Given the description of an element on the screen output the (x, y) to click on. 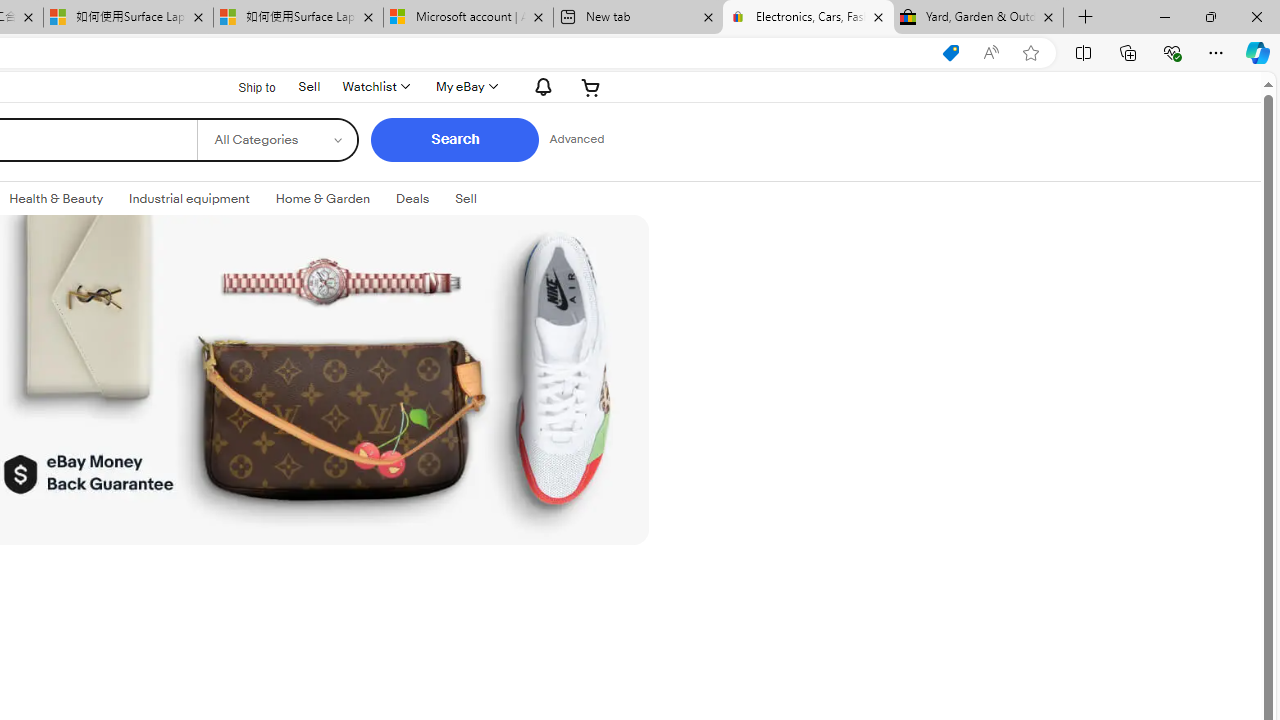
Deals (412, 199)
WatchlistExpand Watch List (374, 86)
Industrial equipment (189, 198)
Home & Garden (323, 198)
Shopping in Microsoft Edge (950, 53)
Home & GardenExpand: Home & Garden (323, 199)
Industrial equipmentExpand: Industrial equipment (189, 199)
Your shopping cart (591, 86)
Microsoft account | Account Checkup (468, 17)
